Given the description of an element on the screen output the (x, y) to click on. 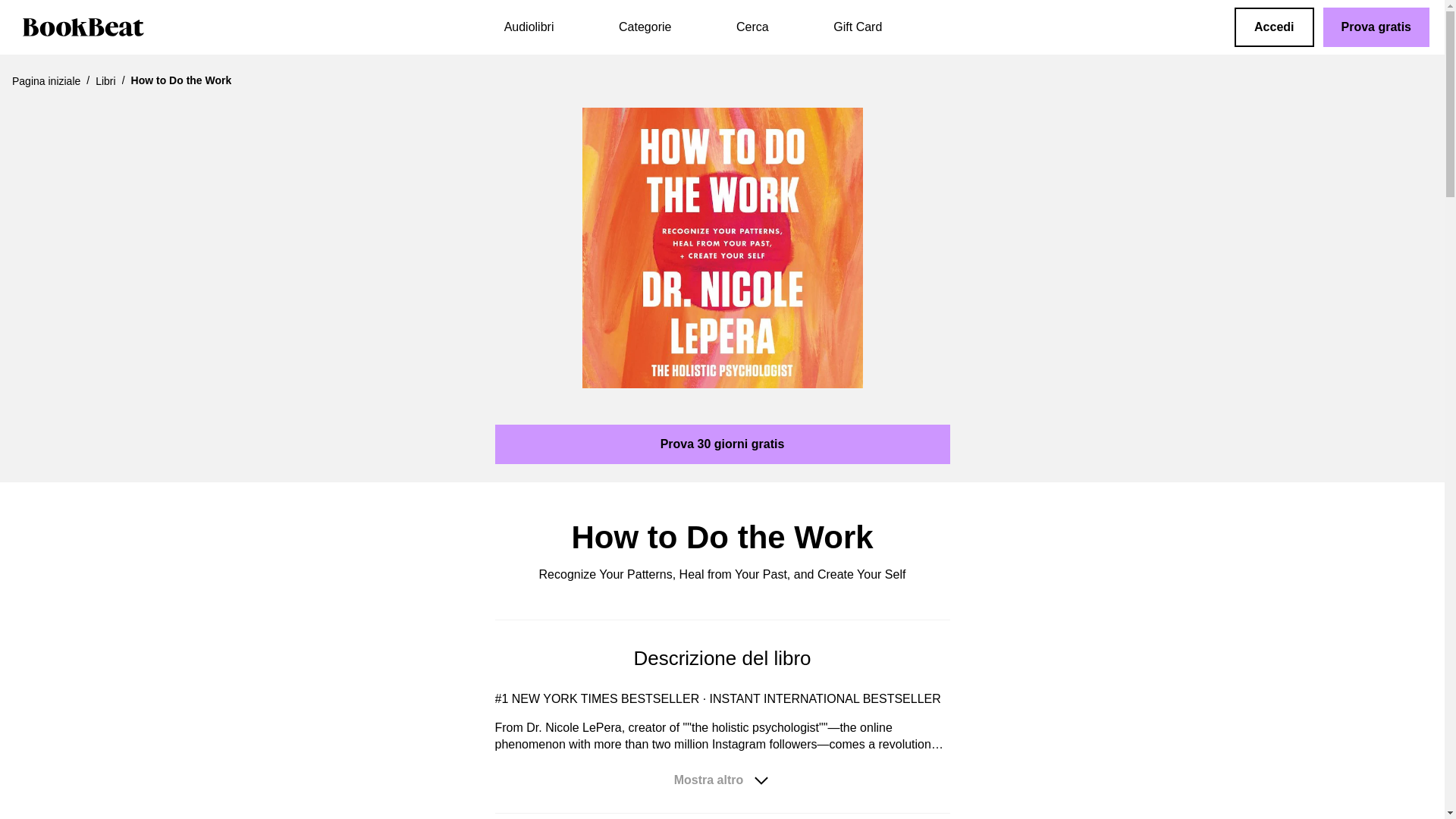
Accedi (1273, 26)
Audiolibri (528, 27)
Gift Card (857, 27)
Categorie (644, 27)
How to Do the Work (722, 247)
Cerca (752, 27)
Prova 30 giorni gratis (722, 444)
Prova gratis (1376, 26)
Libri (105, 80)
Mostra altro (722, 780)
